Given the description of an element on the screen output the (x, y) to click on. 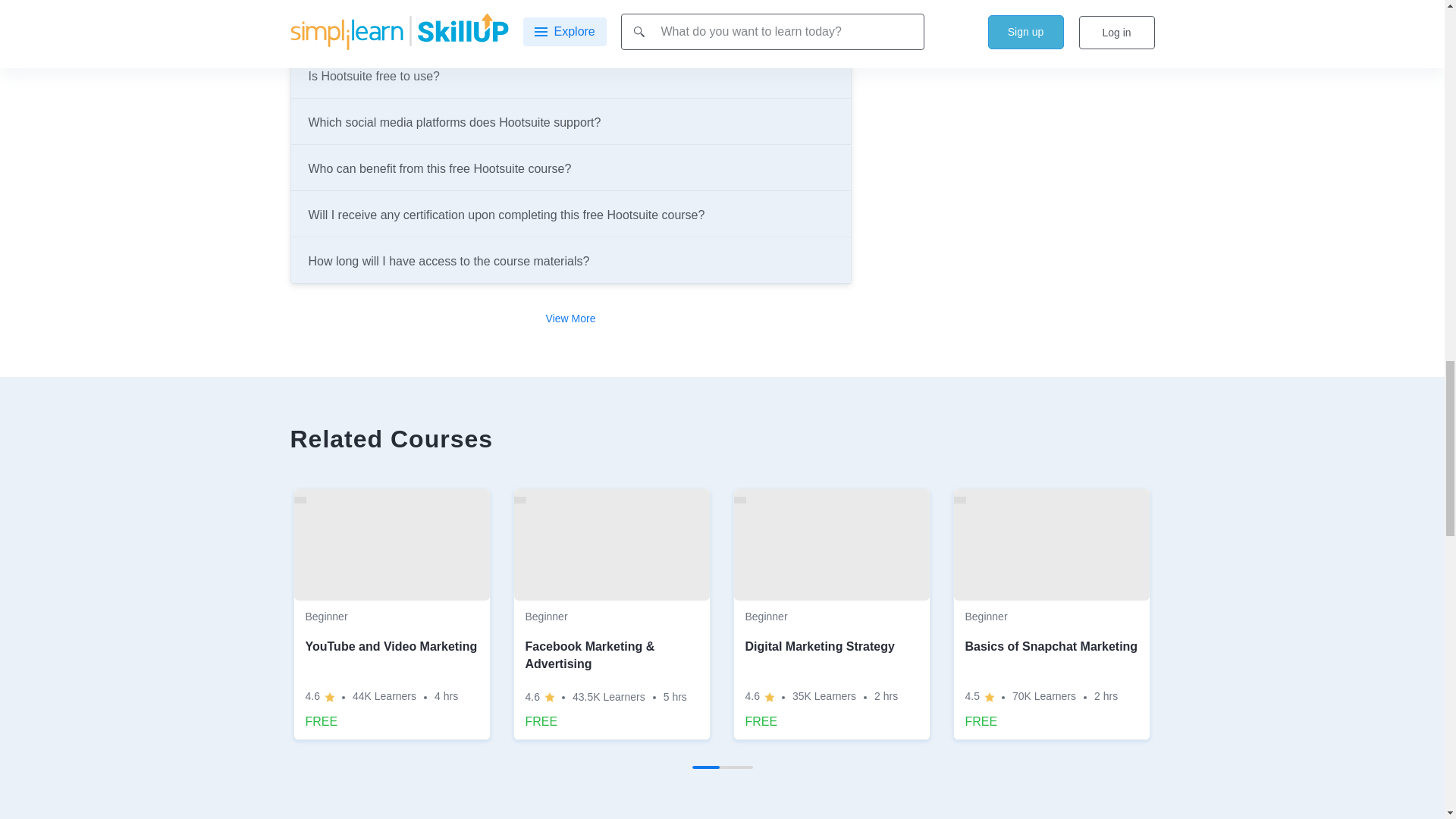
Free Digital Marketing Strategy Course - Enroll Today! (831, 614)
Free Facebook Ads Course with Certificate (611, 614)
Free Course for Introduction to Snapchat Marketing (1051, 614)
View More (570, 318)
